Given the description of an element on the screen output the (x, y) to click on. 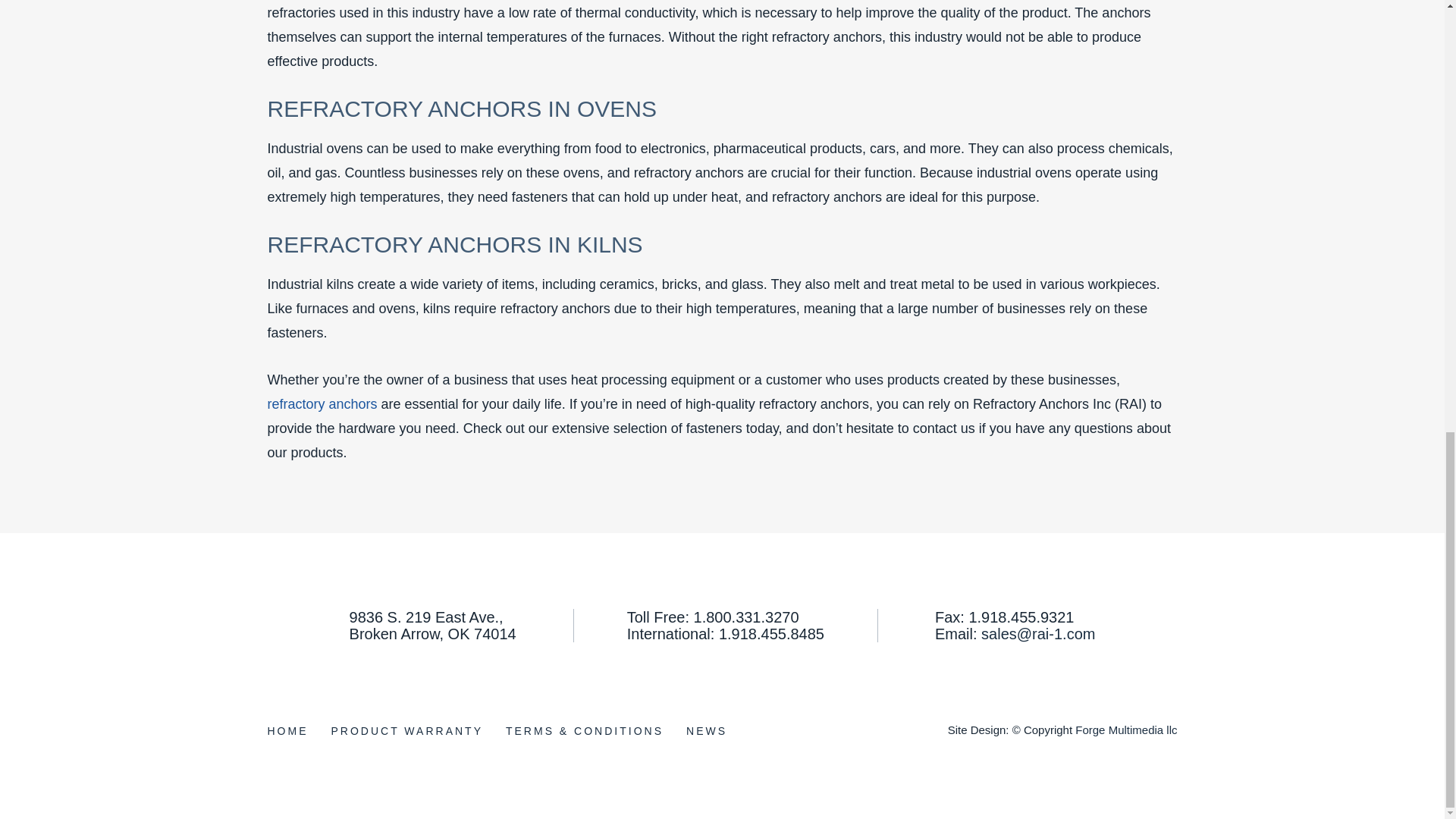
Forge Multimedia llc (1125, 728)
HOME (286, 729)
NEWS (705, 729)
refractory anchors (321, 403)
PRODUCT WARRANTY (407, 729)
